Given the description of an element on the screen output the (x, y) to click on. 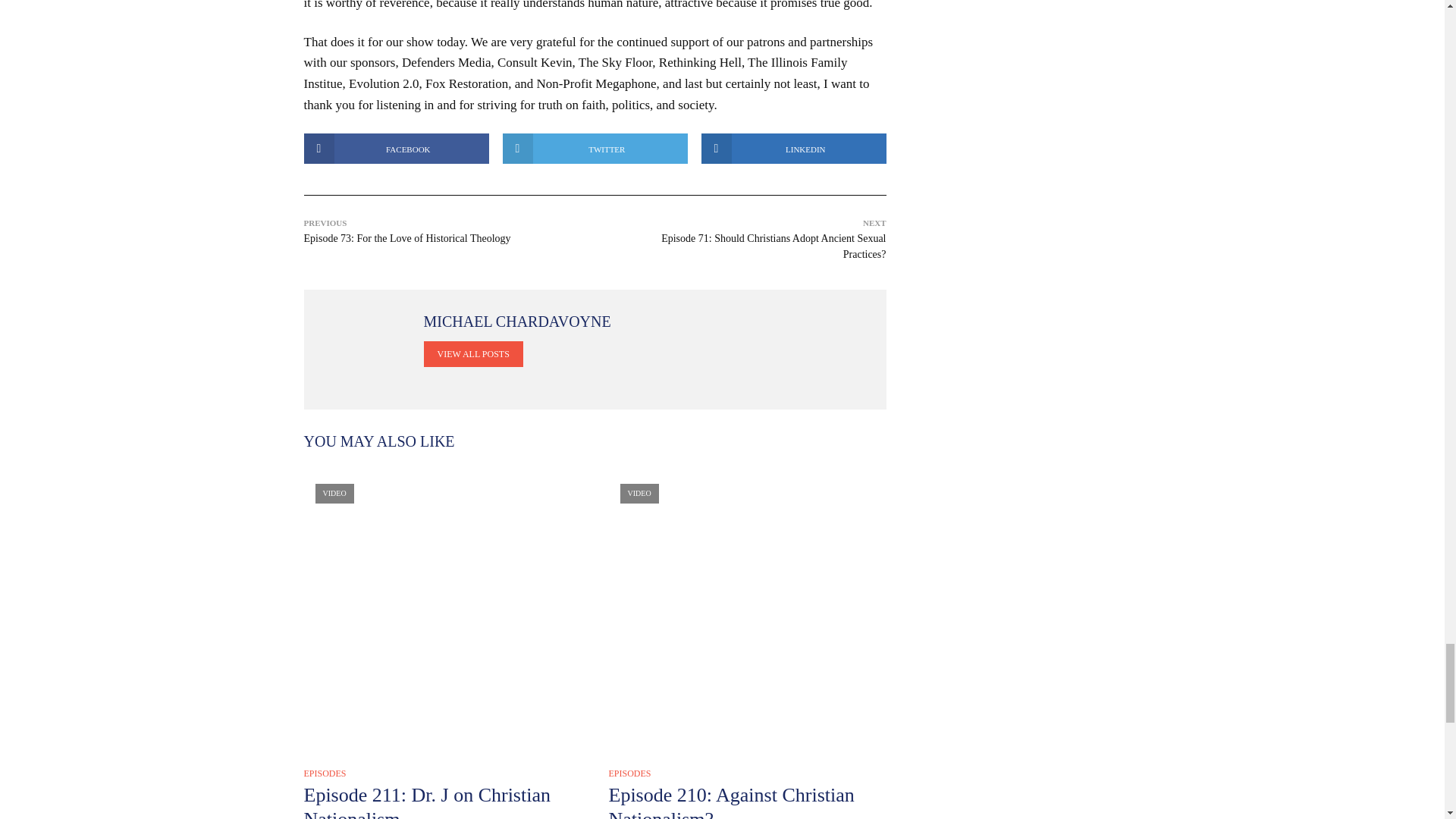
Episode 211: Dr. J on Christian Nationalism (441, 611)
Episode 210: Against Christian Nationalism? (746, 611)
